Given the description of an element on the screen output the (x, y) to click on. 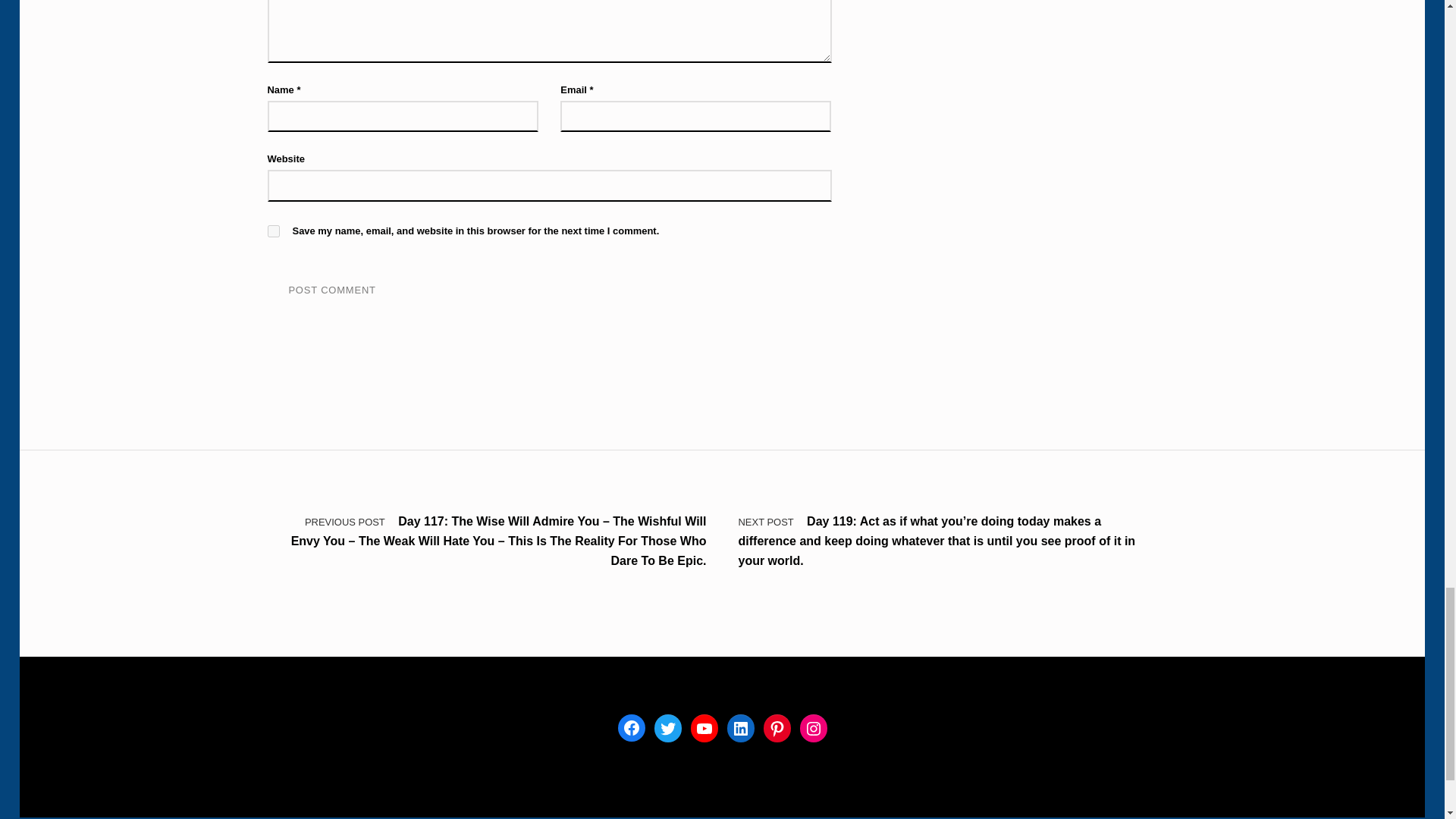
yes (272, 231)
Post Comment (331, 290)
Post Comment (331, 290)
